Given the description of an element on the screen output the (x, y) to click on. 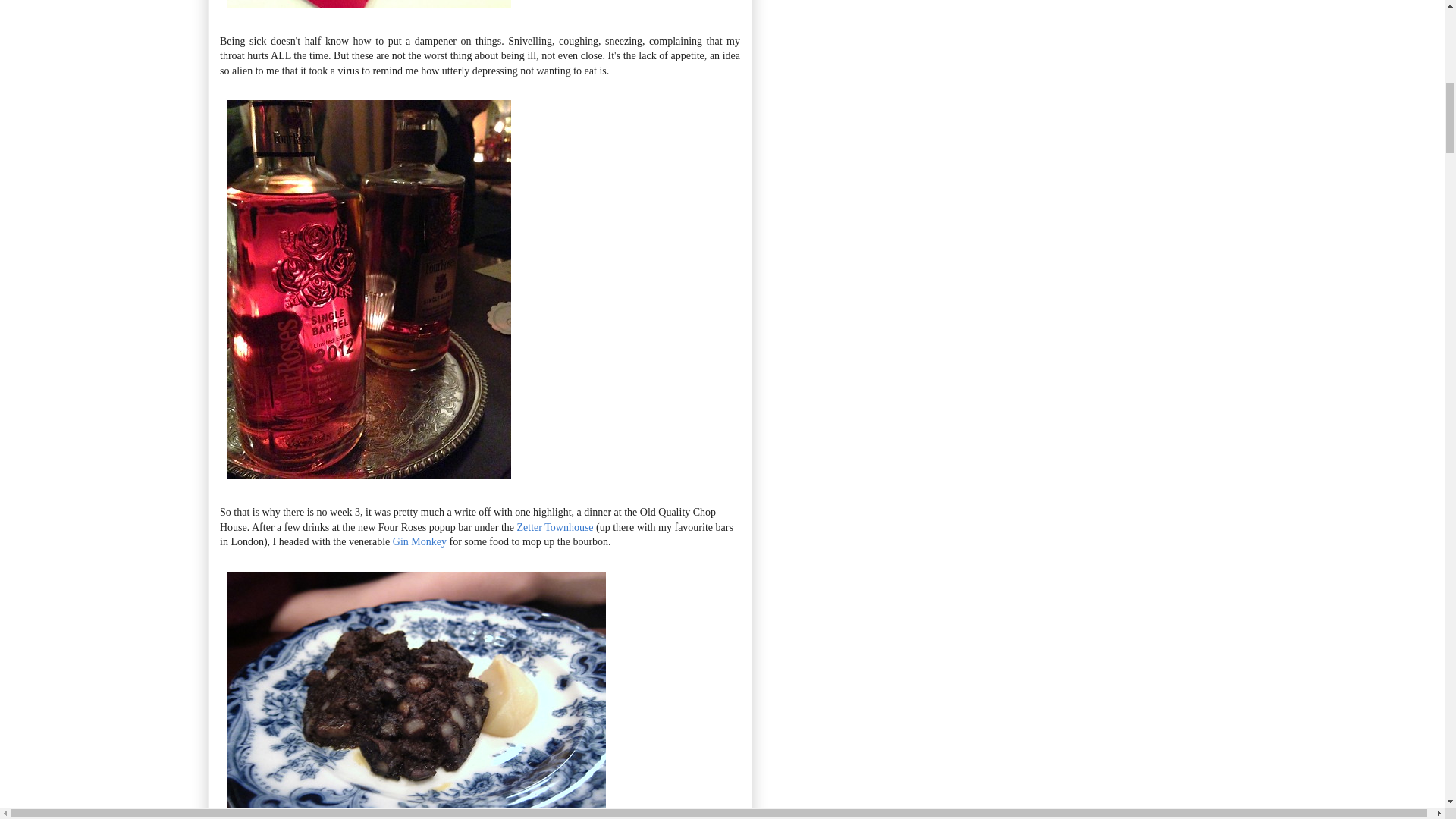
Four Roses Bar by tehbus, on Flickr (368, 482)
Chinese New Year by tehbus, on Flickr (368, 11)
Zetter Townhouse (555, 527)
Gin Monkey (419, 541)
